Given the description of an element on the screen output the (x, y) to click on. 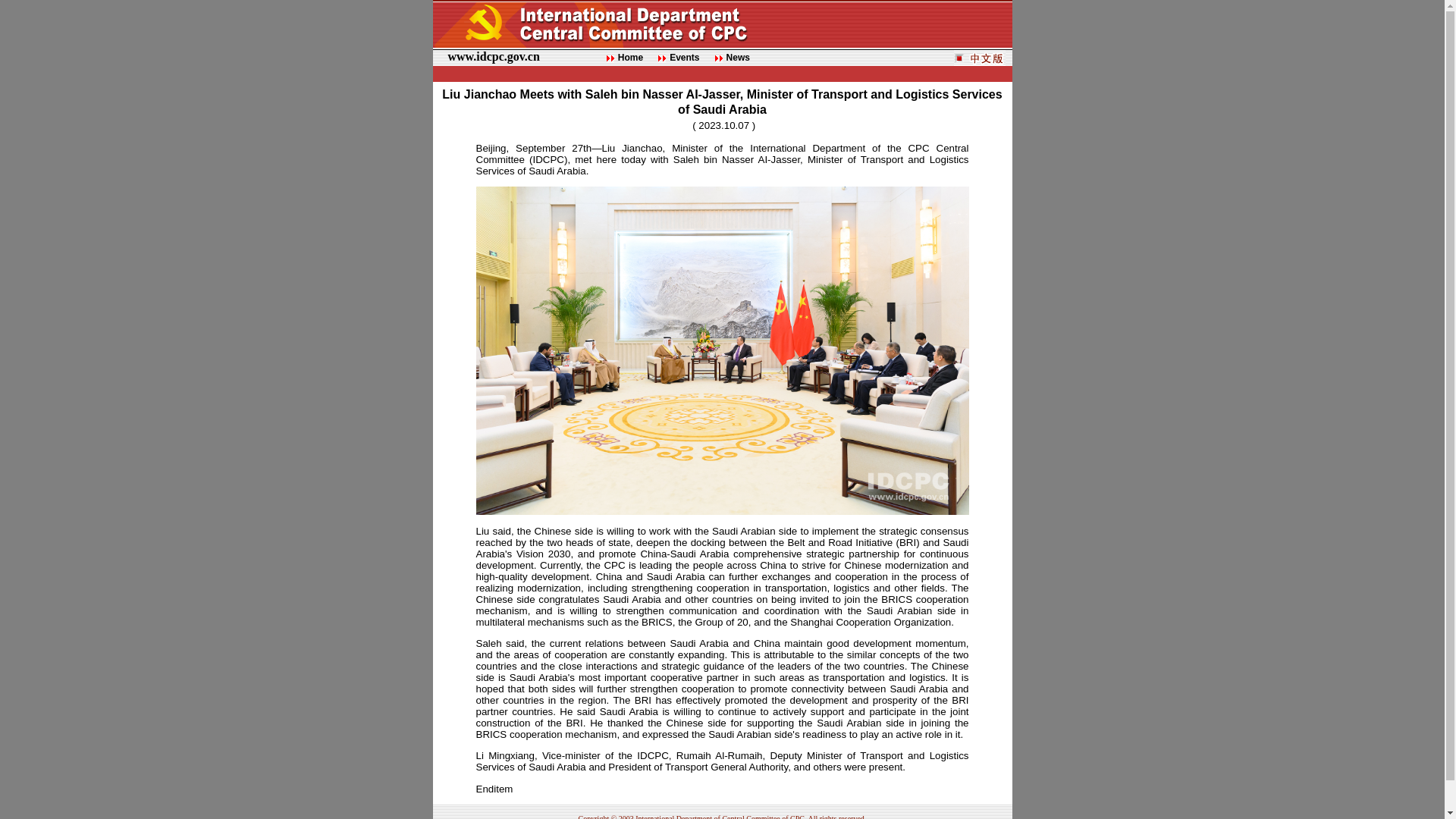
Events (683, 57)
News (737, 57)
Home (630, 57)
